Given the description of an element on the screen output the (x, y) to click on. 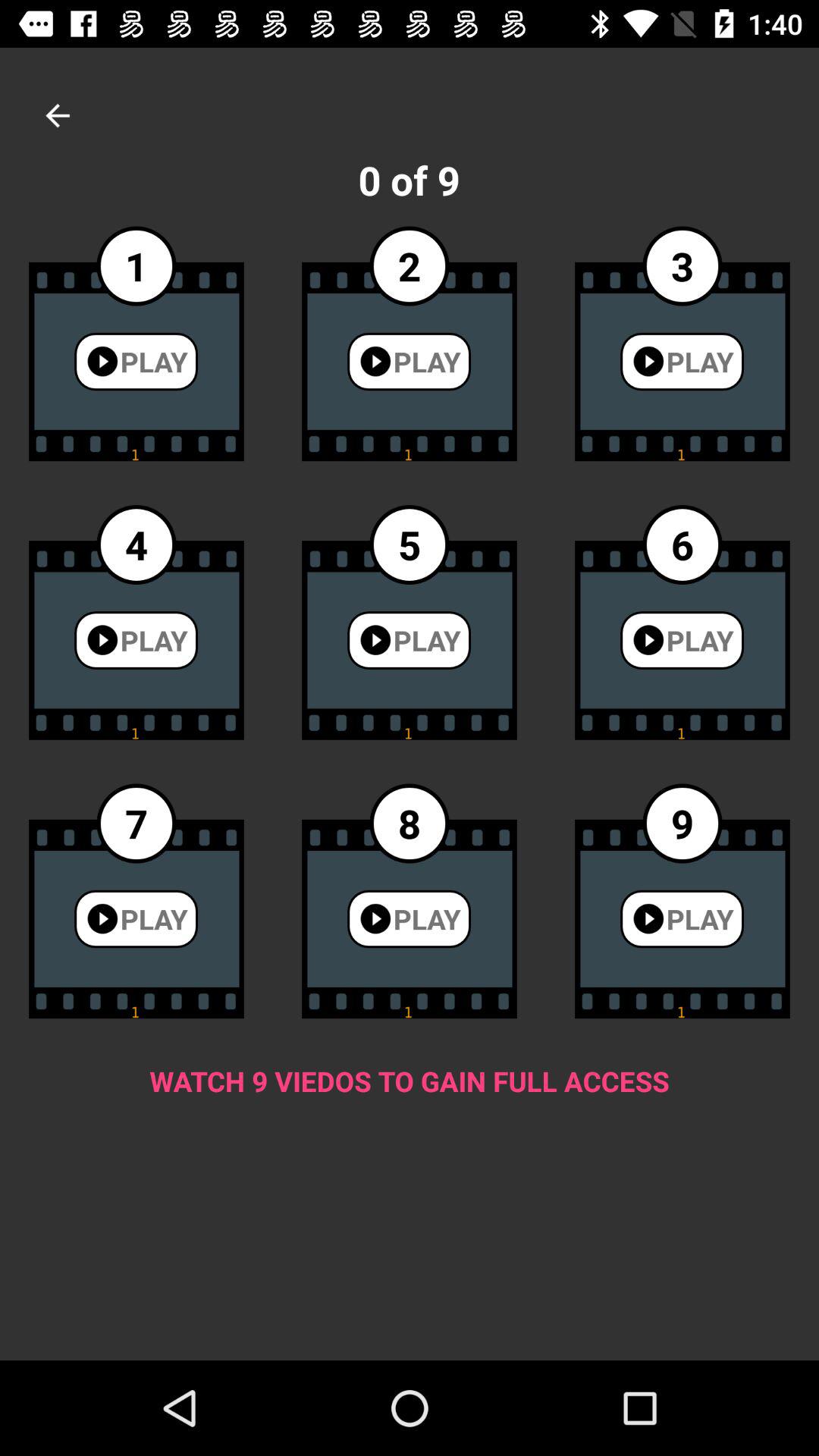
go back (57, 115)
